Given the description of an element on the screen output the (x, y) to click on. 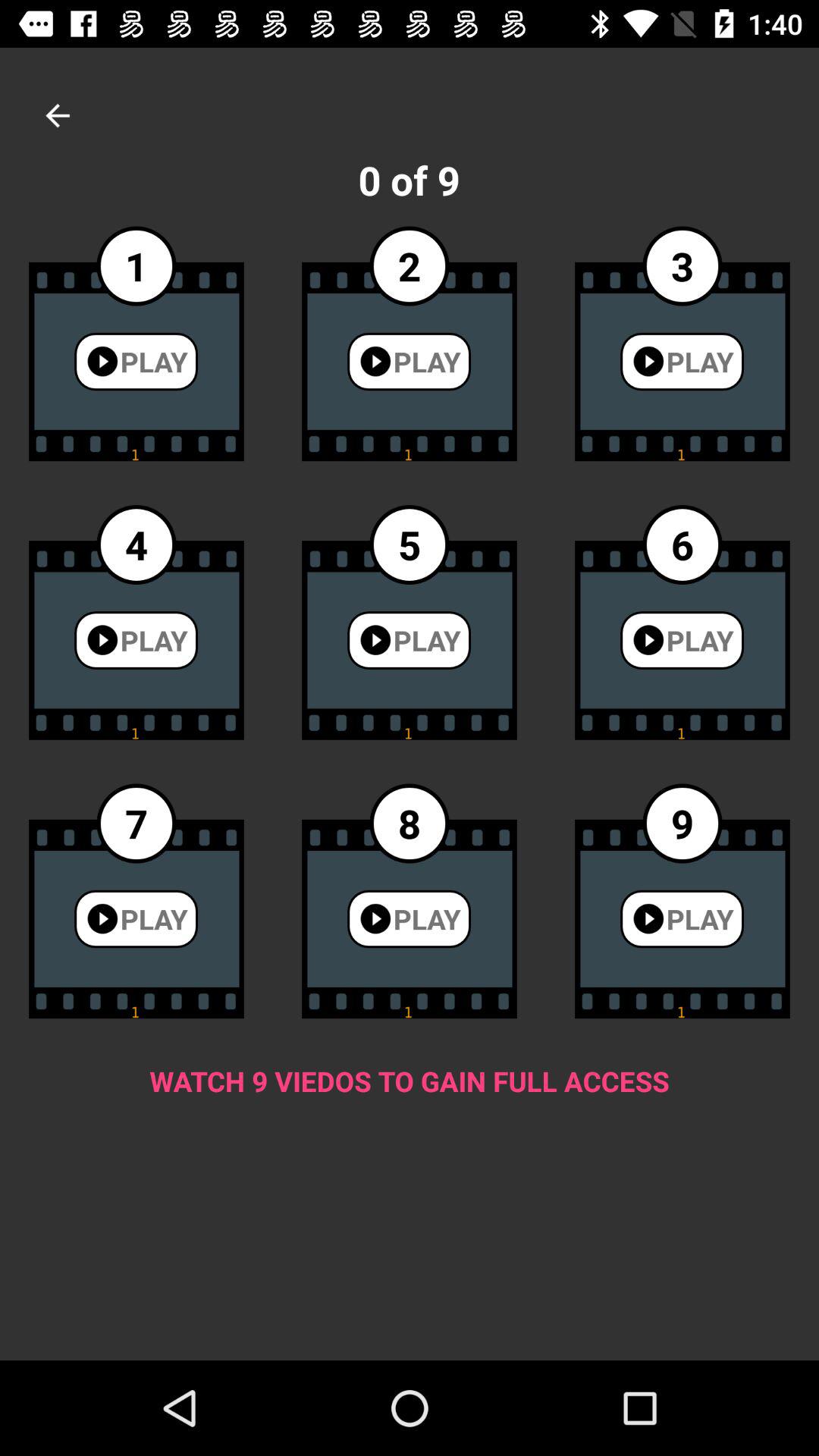
go back (57, 115)
